Given the description of an element on the screen output the (x, y) to click on. 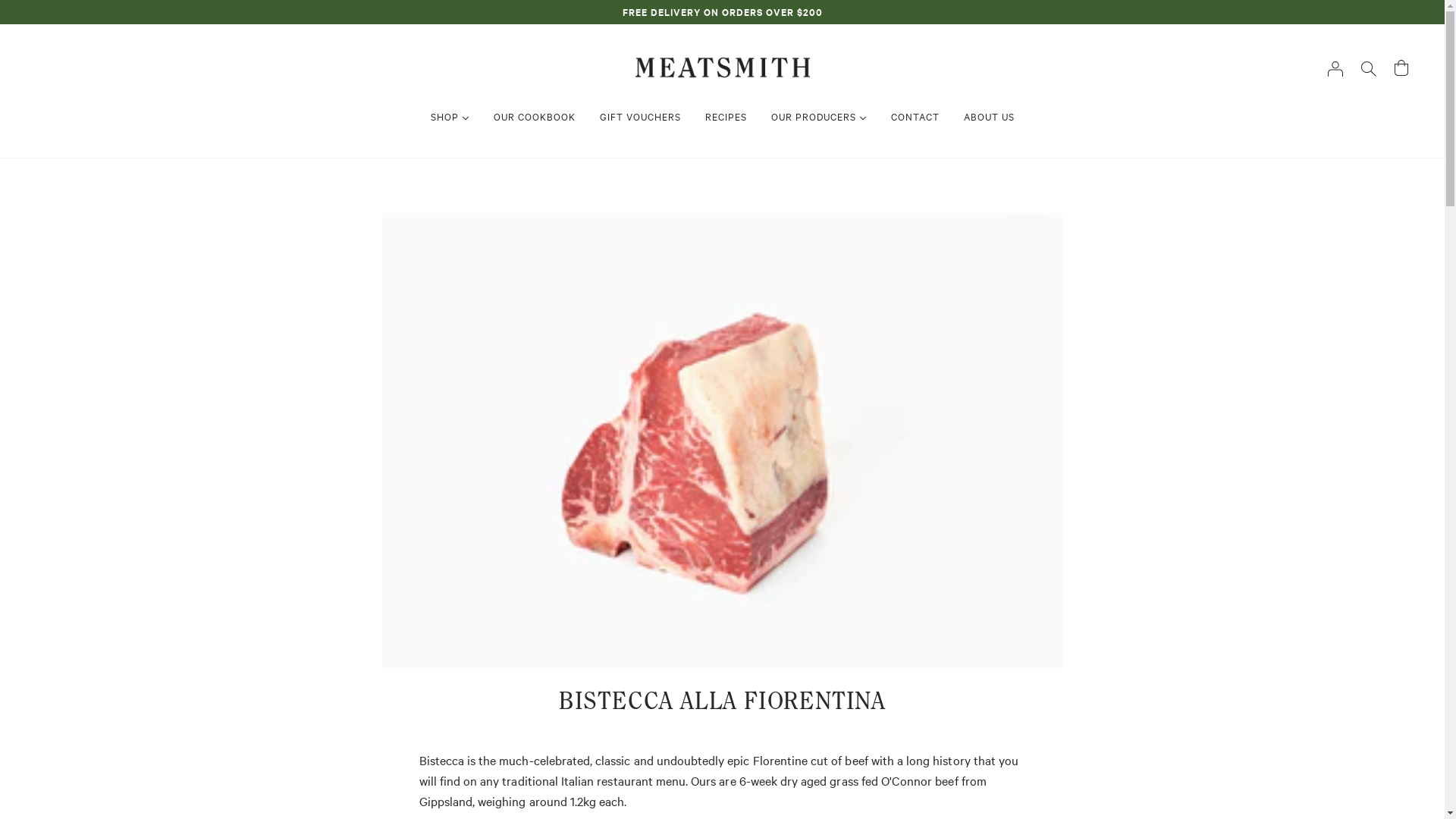
GIFT VOUCHERS Element type: text (639, 115)
Meatsmith Element type: hover (721, 64)
RECIPES Element type: text (726, 115)
OUR COOKBOOK Element type: text (533, 115)
SHOP Element type: text (449, 115)
CONTACT Element type: text (914, 115)
ABOUT US Element type: text (988, 115)
OUR PRODUCERS Element type: text (818, 115)
FREE DELIVERY ON ORDERS OVER $200 Element type: text (722, 12)
